Given the description of an element on the screen output the (x, y) to click on. 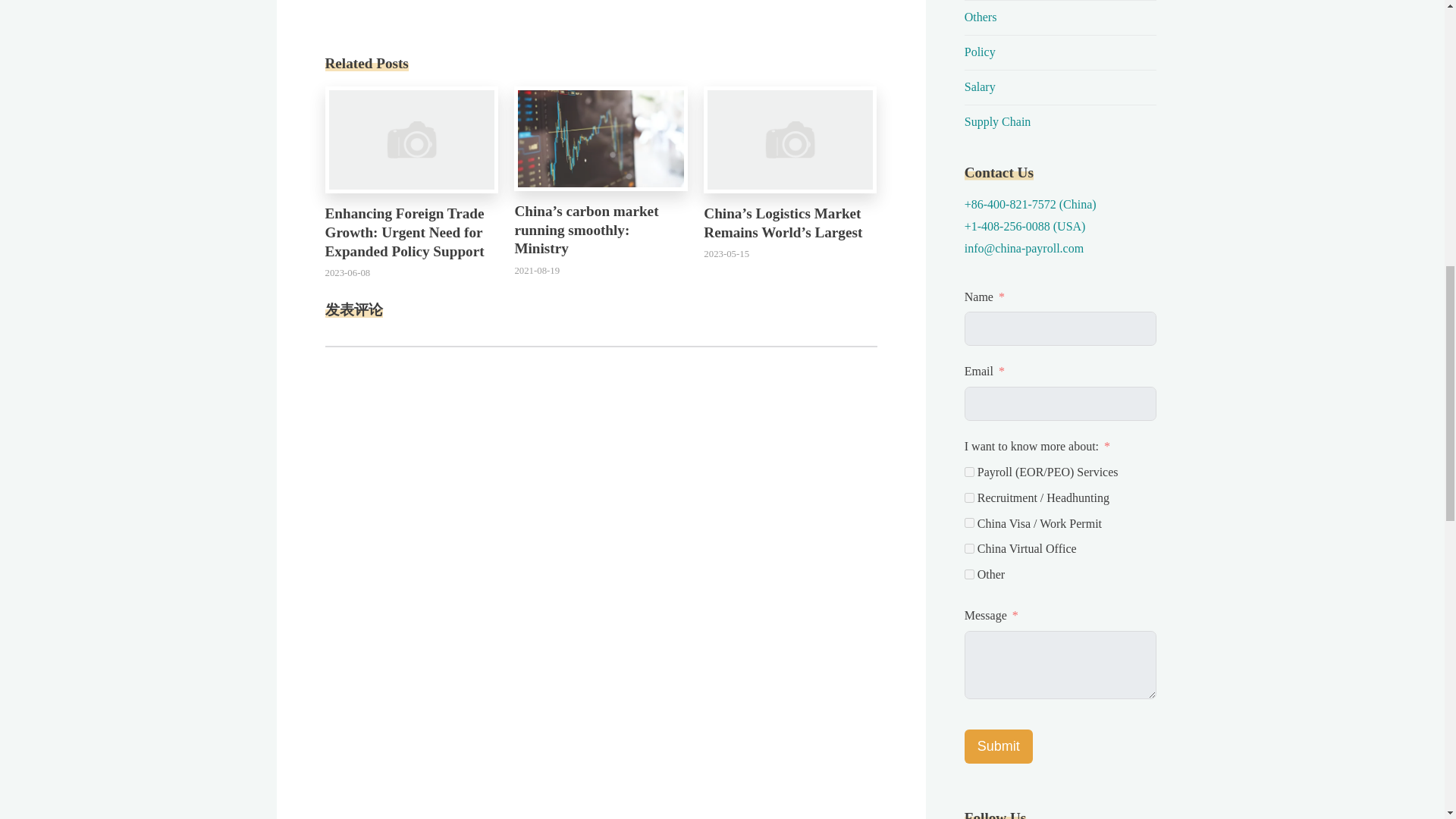
Other (968, 574)
China Virtual Office (968, 548)
